Given the description of an element on the screen output the (x, y) to click on. 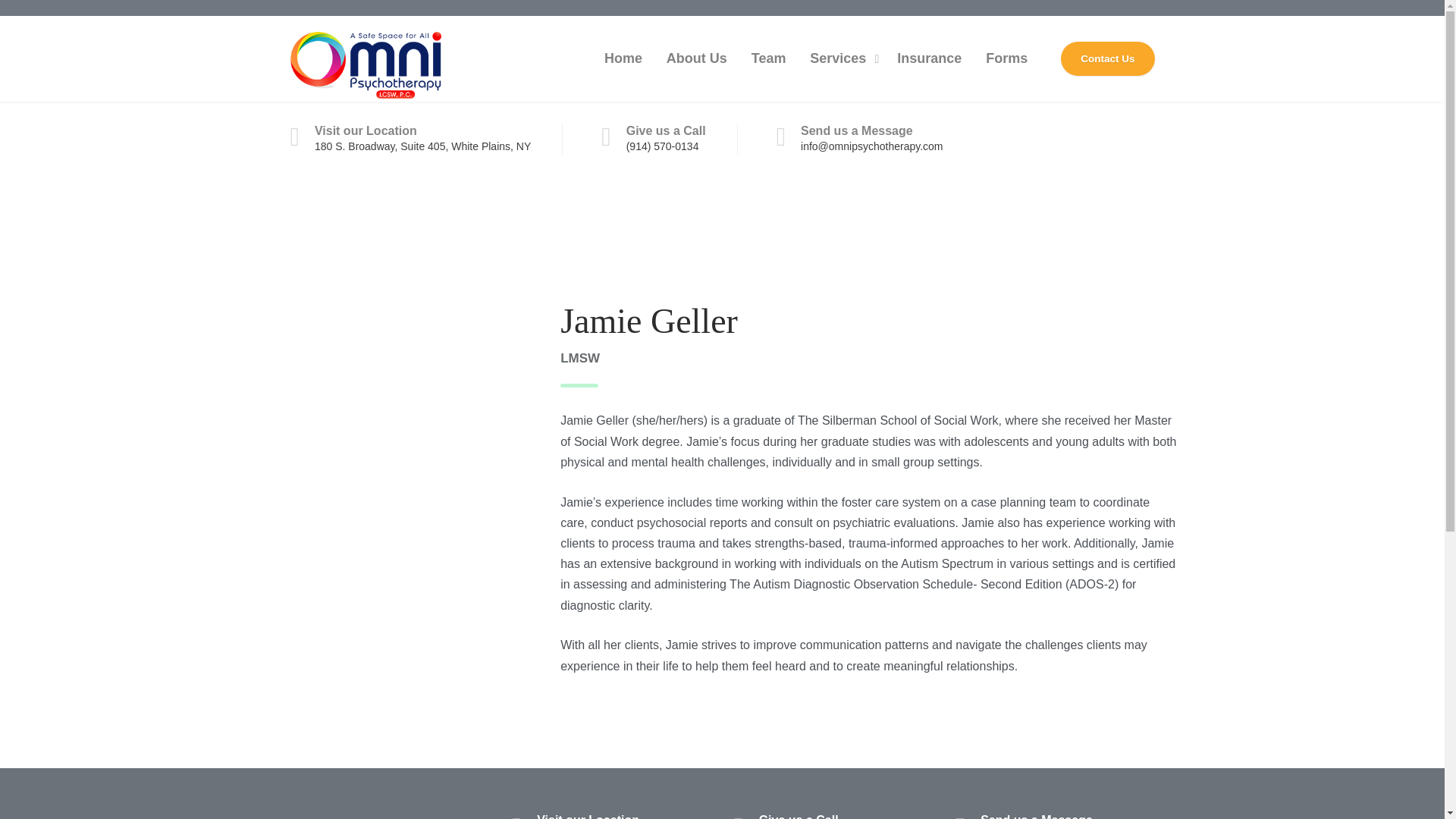
Insurance (929, 58)
About Us (697, 58)
Omni Psychotherapy, LCSW, P.C. (365, 58)
Contact Us (1107, 58)
Services (841, 58)
